Given the description of an element on the screen output the (x, y) to click on. 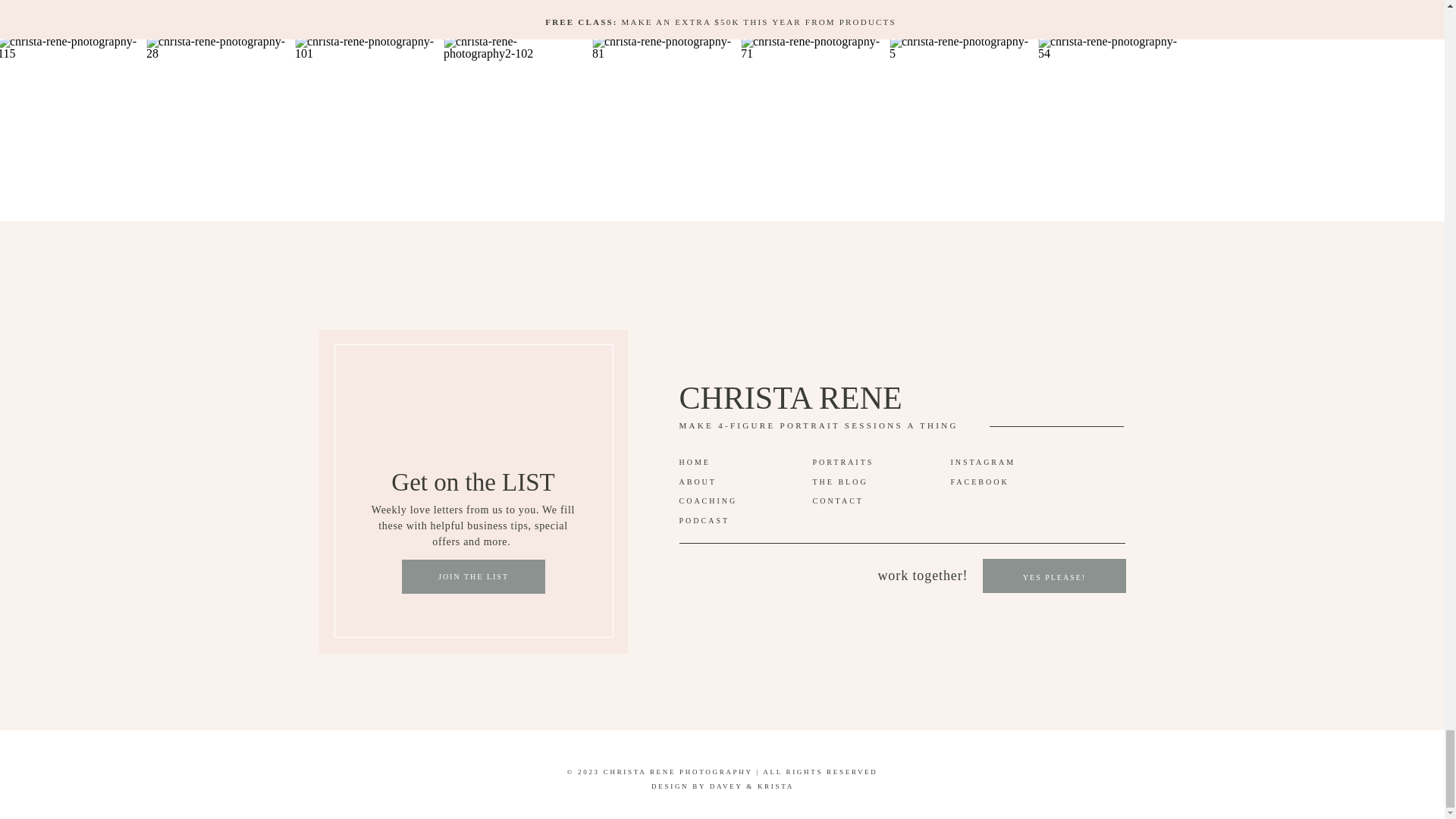
christa-rene-photography-101 (365, 106)
christa-rene-photography-54 (1108, 106)
christa-rene-photography-28 (217, 106)
christa-rene-photography-115 (69, 106)
christa-rene-photography-39 (1256, 106)
christa-rene-photography-81 (662, 106)
christa-rene-photography-71 (811, 106)
christa-rene-photography-5 (959, 106)
christa-rene-photography2-102 (514, 106)
